Given the description of an element on the screen output the (x, y) to click on. 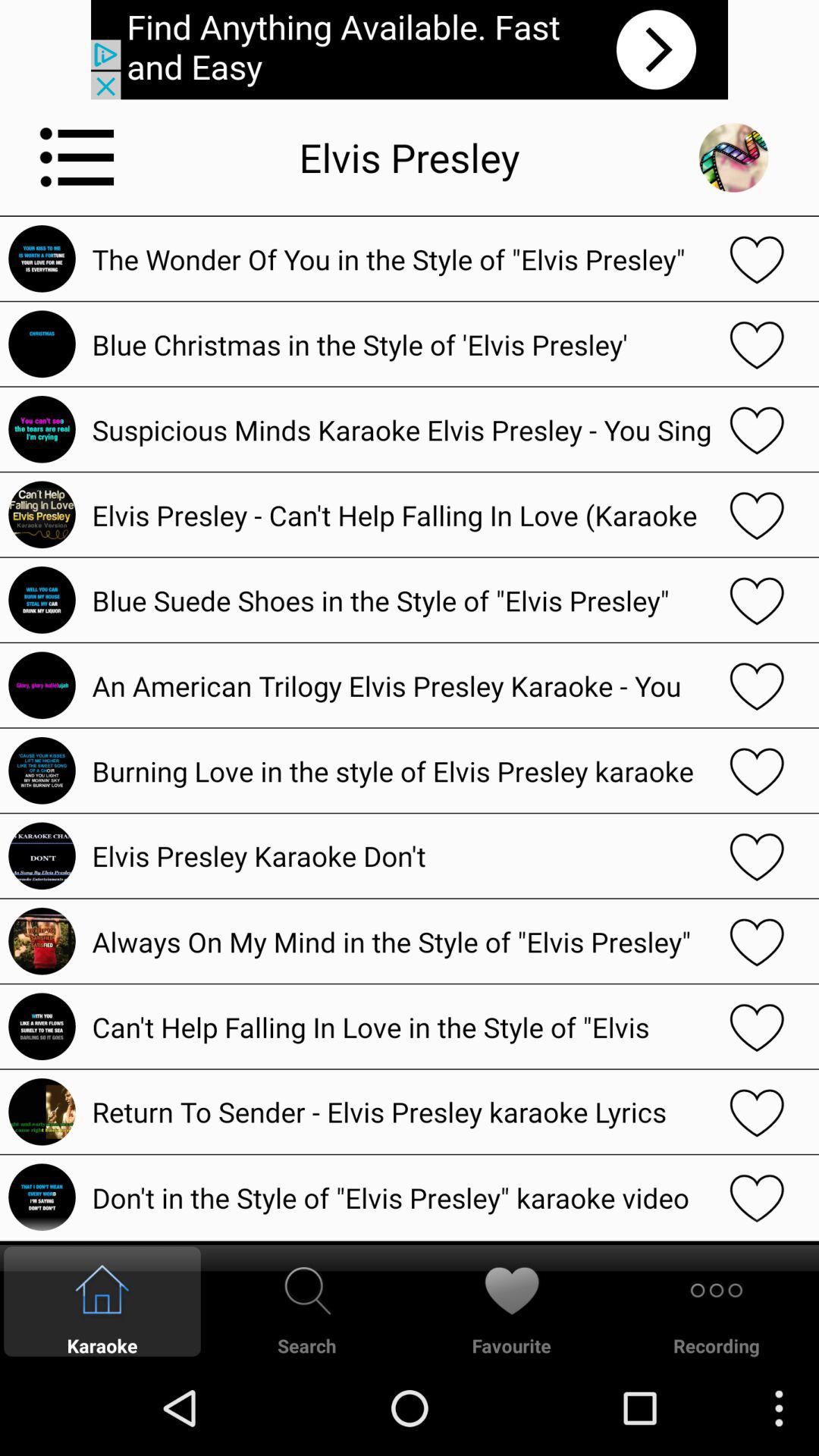
favorite song (756, 941)
